Given the description of an element on the screen output the (x, y) to click on. 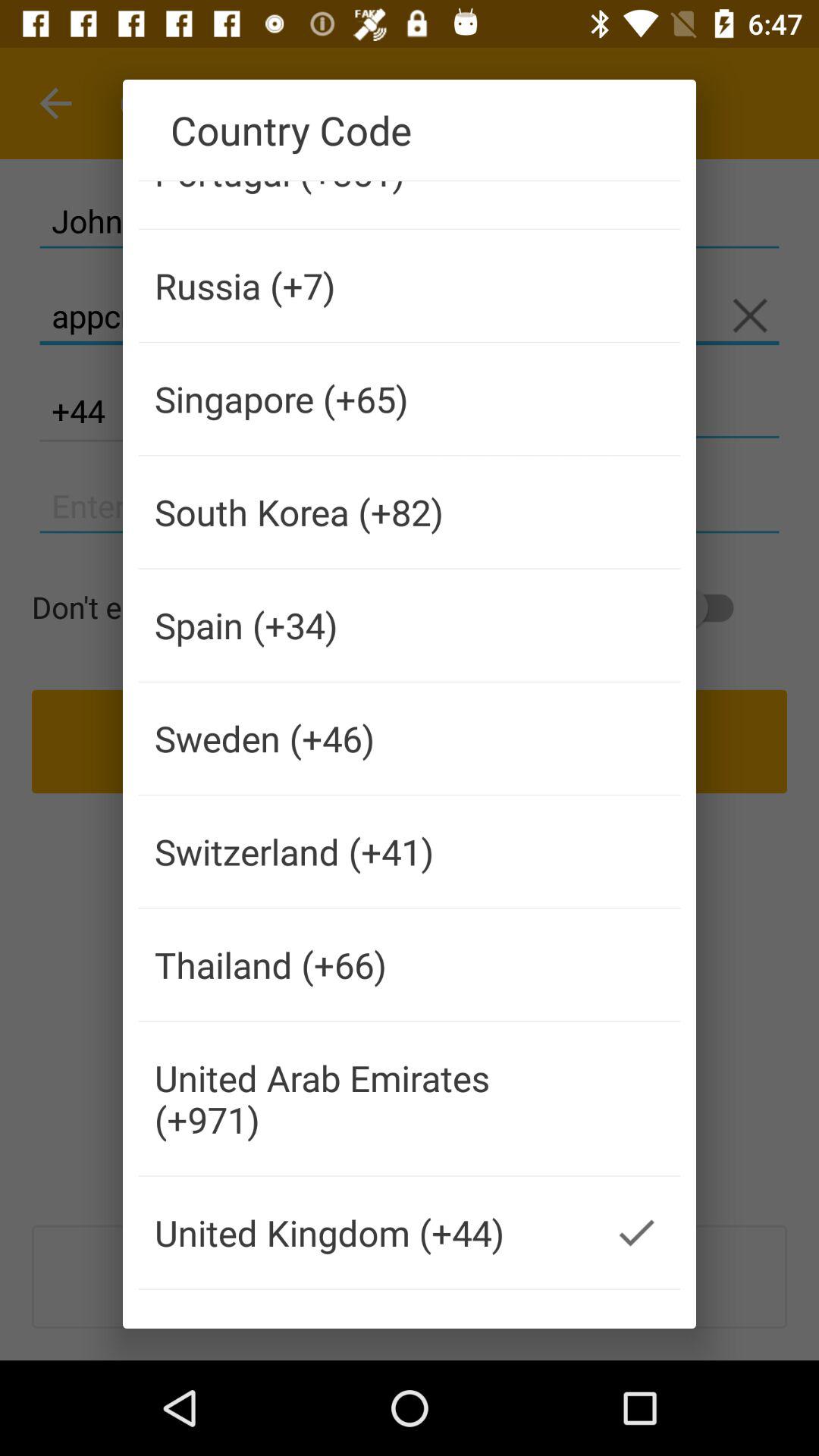
swipe to united arab emirates icon (365, 1098)
